Given the description of an element on the screen output the (x, y) to click on. 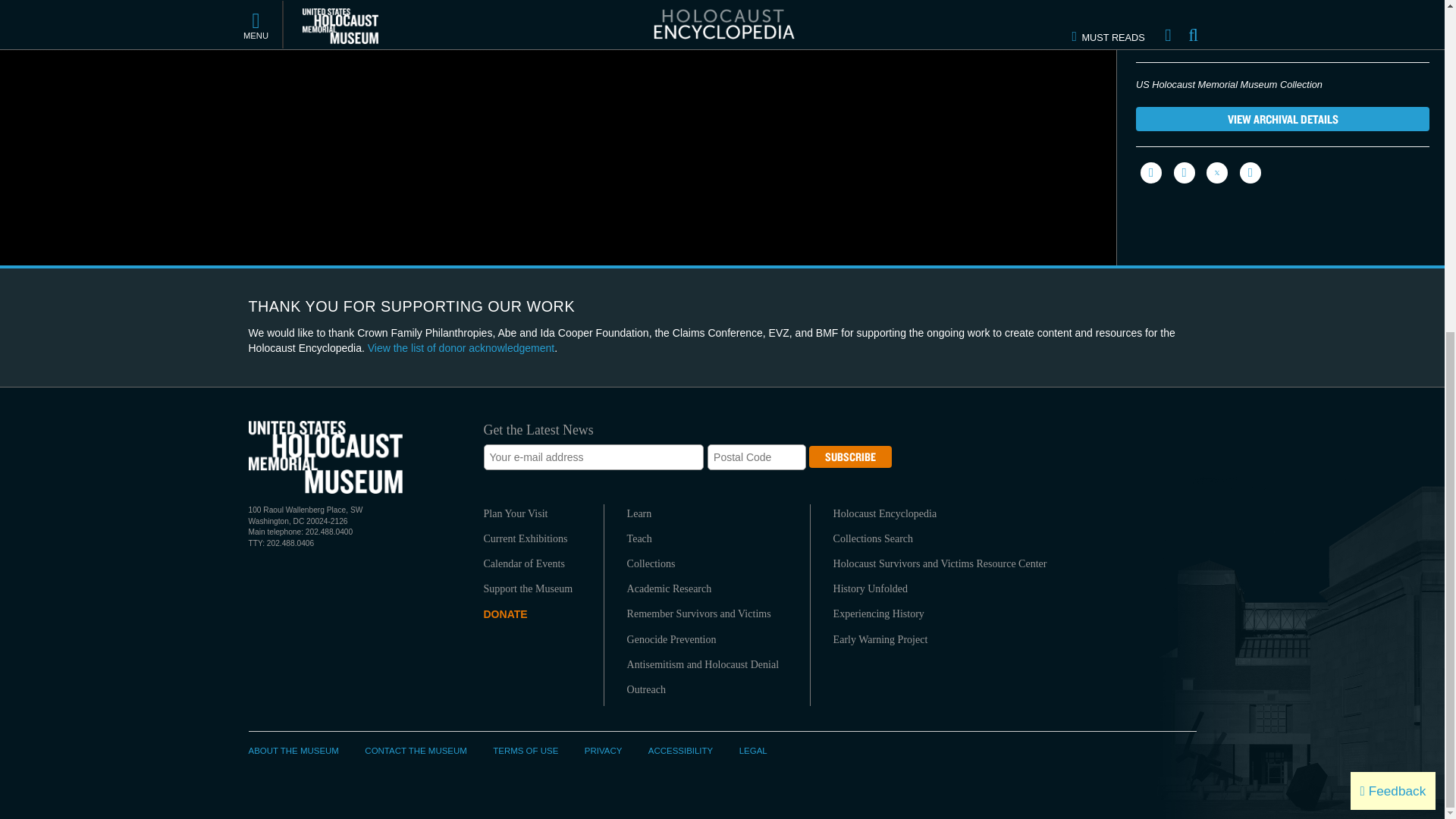
Subscribe (850, 456)
